Given the description of an element on the screen output the (x, y) to click on. 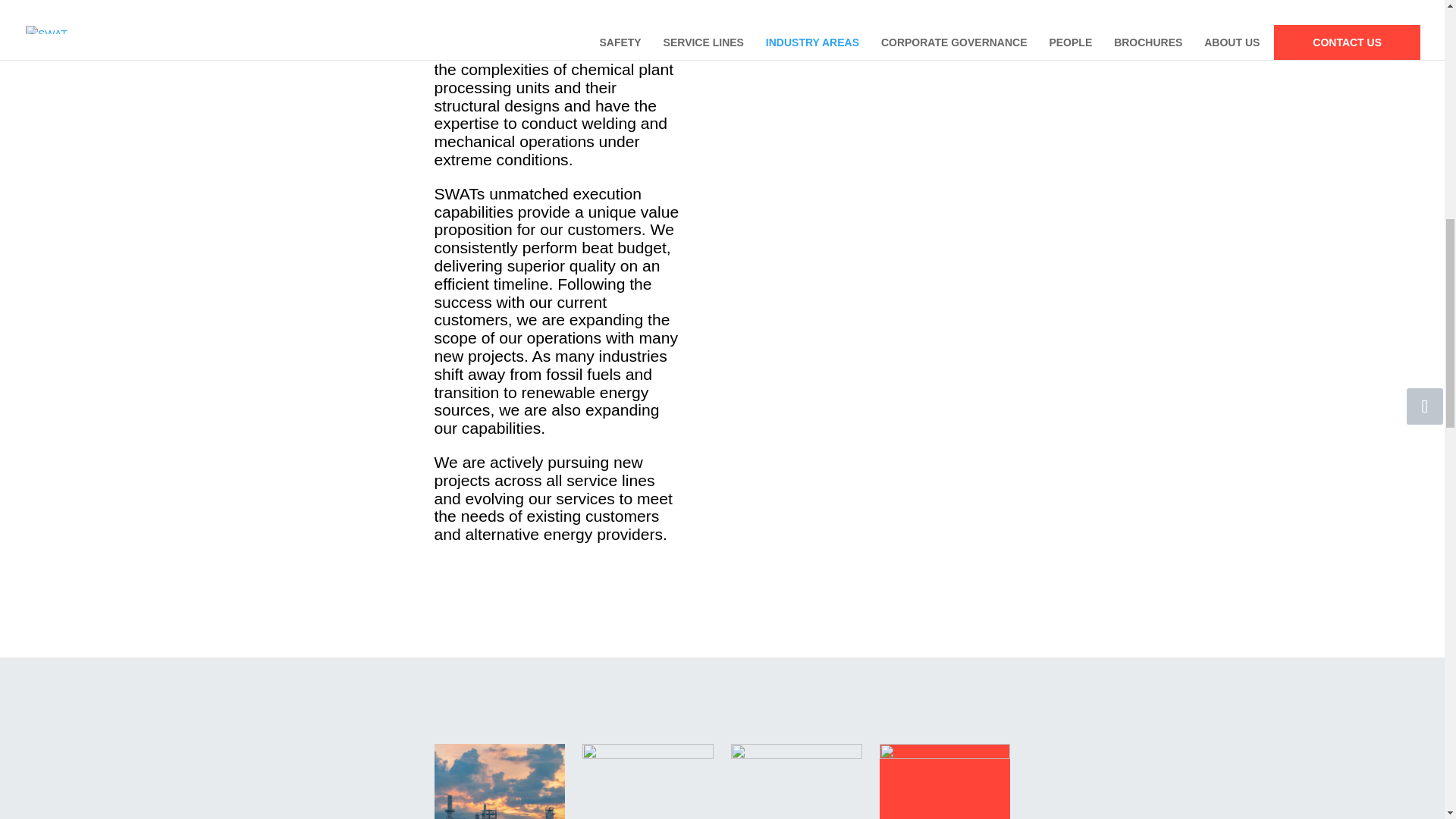
LP-IndustryAreas-Card-TalktoanExpert (944, 781)
LP-IndustryAreas-Card-ChemicalPlant (647, 781)
LP-IndustryAreas-Card-RenewablesBio (795, 781)
LP-IndustryAreas-Card-OilRefinery (498, 781)
